Given the description of an element on the screen output the (x, y) to click on. 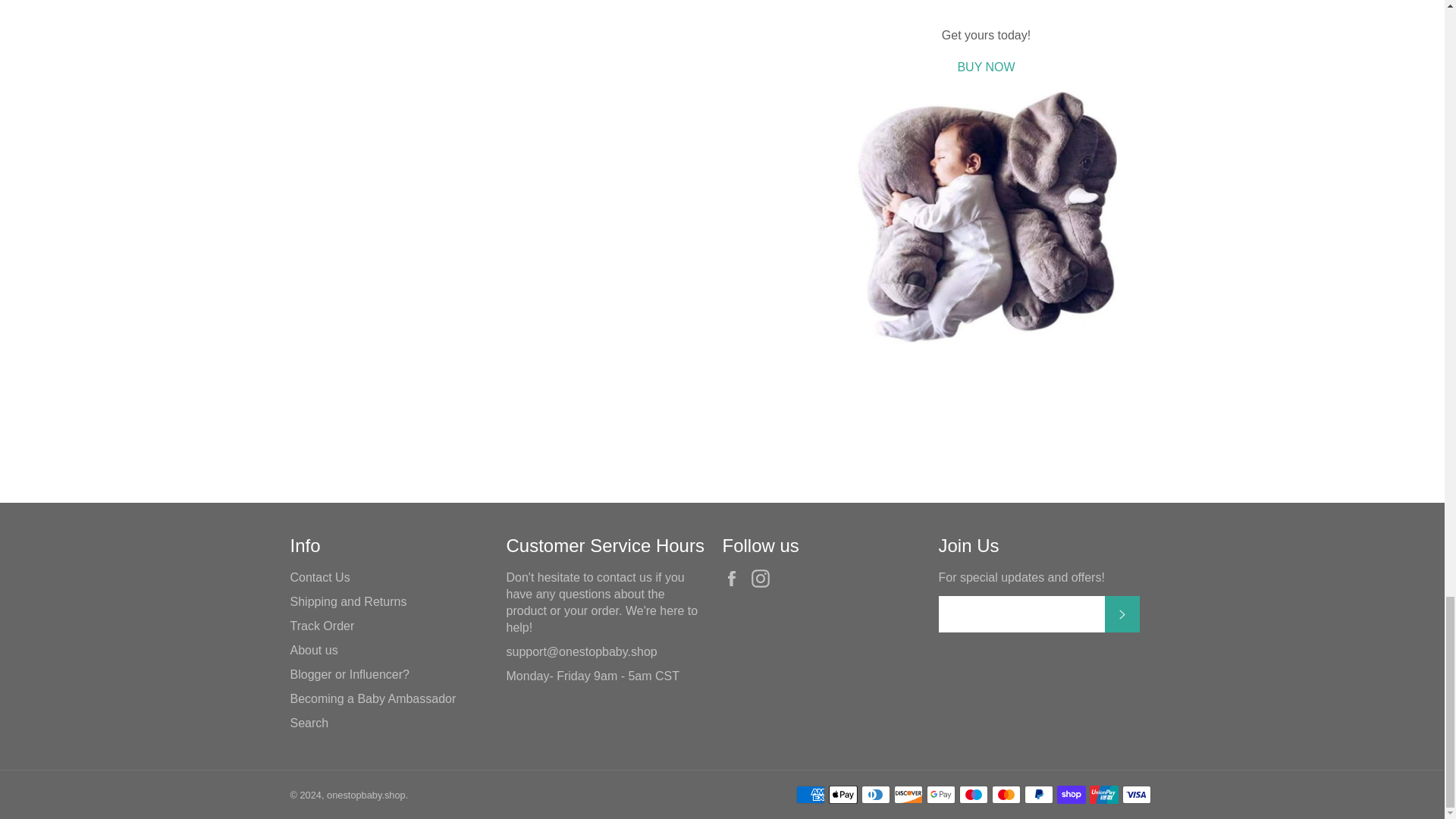
onestopbaby.shop on Instagram (764, 578)
onestopbaby.shop on Facebook (735, 578)
YouTube video player (985, 6)
